Given the description of an element on the screen output the (x, y) to click on. 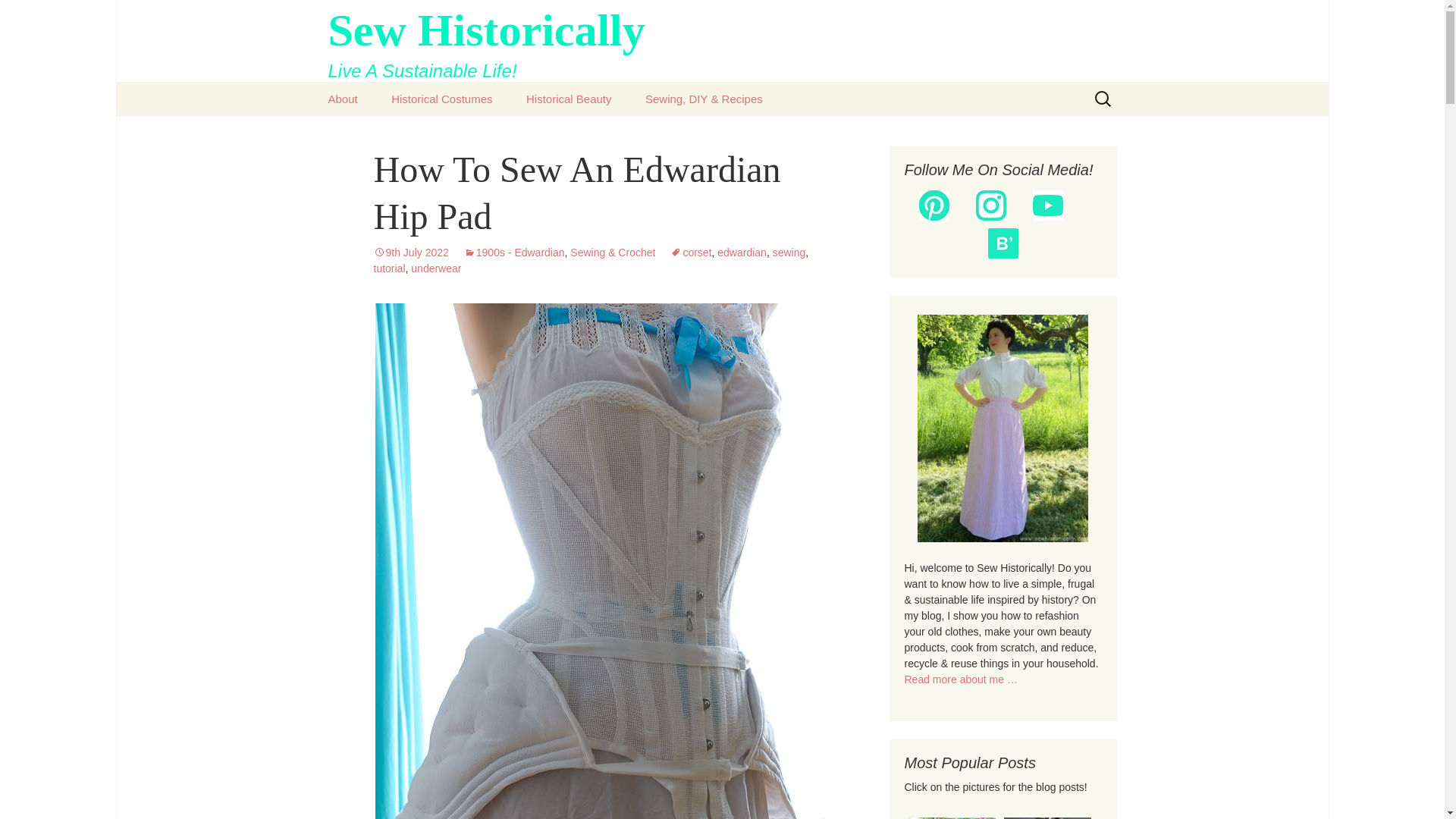
sewing (789, 252)
About (722, 40)
Historical Beauty (342, 98)
9th July 2022 (569, 98)
Skip to content (410, 252)
Themes Across Eras (742, 252)
Permalink to How To Sew An Edwardian Hip Pad (451, 132)
Historical Costumes (410, 252)
tutorial (440, 98)
Search (388, 268)
Skip to content (18, 15)
corset (722, 40)
